Given the description of an element on the screen output the (x, y) to click on. 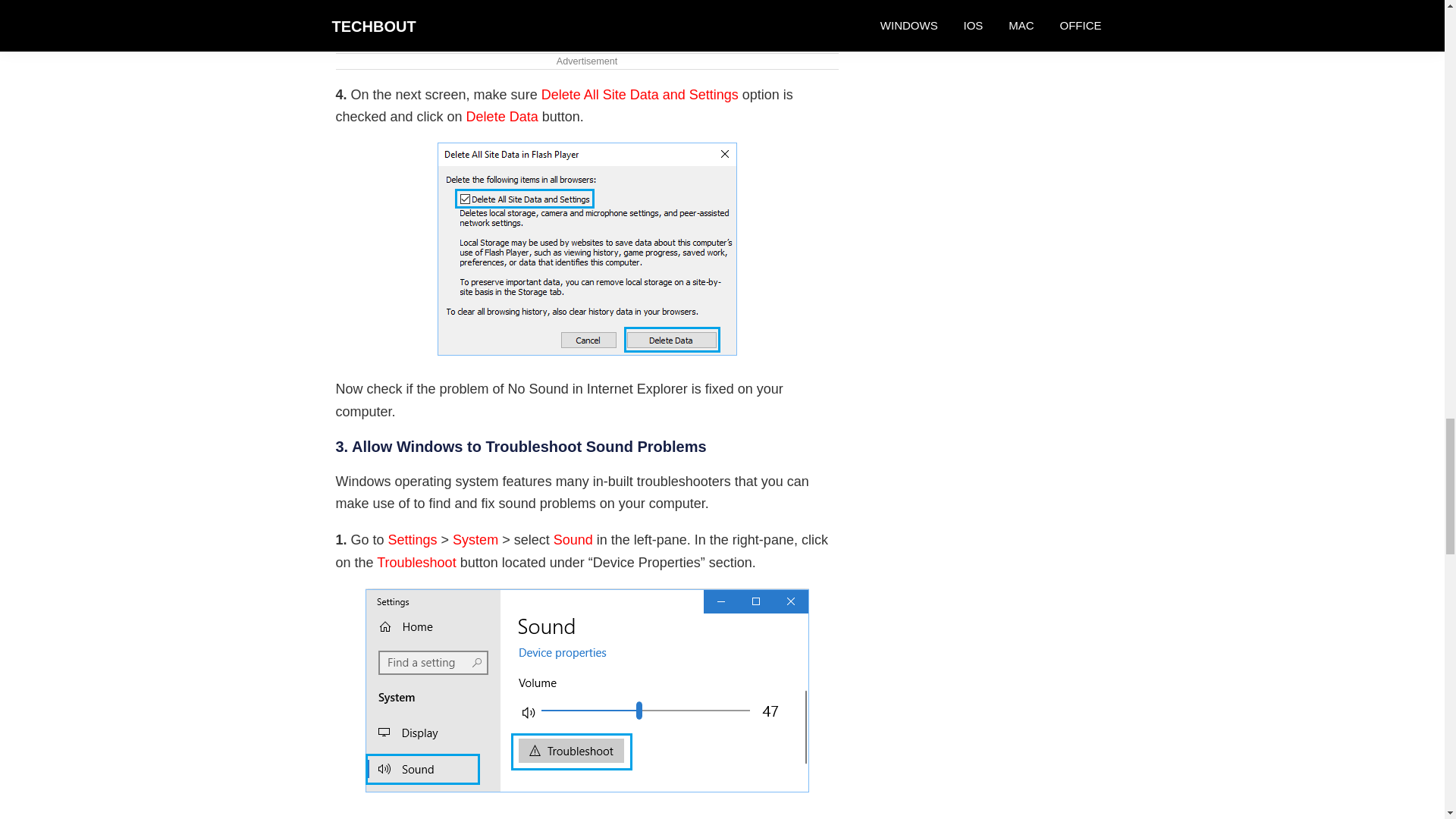
Delete Flash Player Data and Settings Option in Windows 10 (586, 15)
Troubleshoot Sound Problems on Windows Computer (587, 690)
Delete All Flash Player Site Data and Settings in Windows 10 (586, 248)
